Given the description of an element on the screen output the (x, y) to click on. 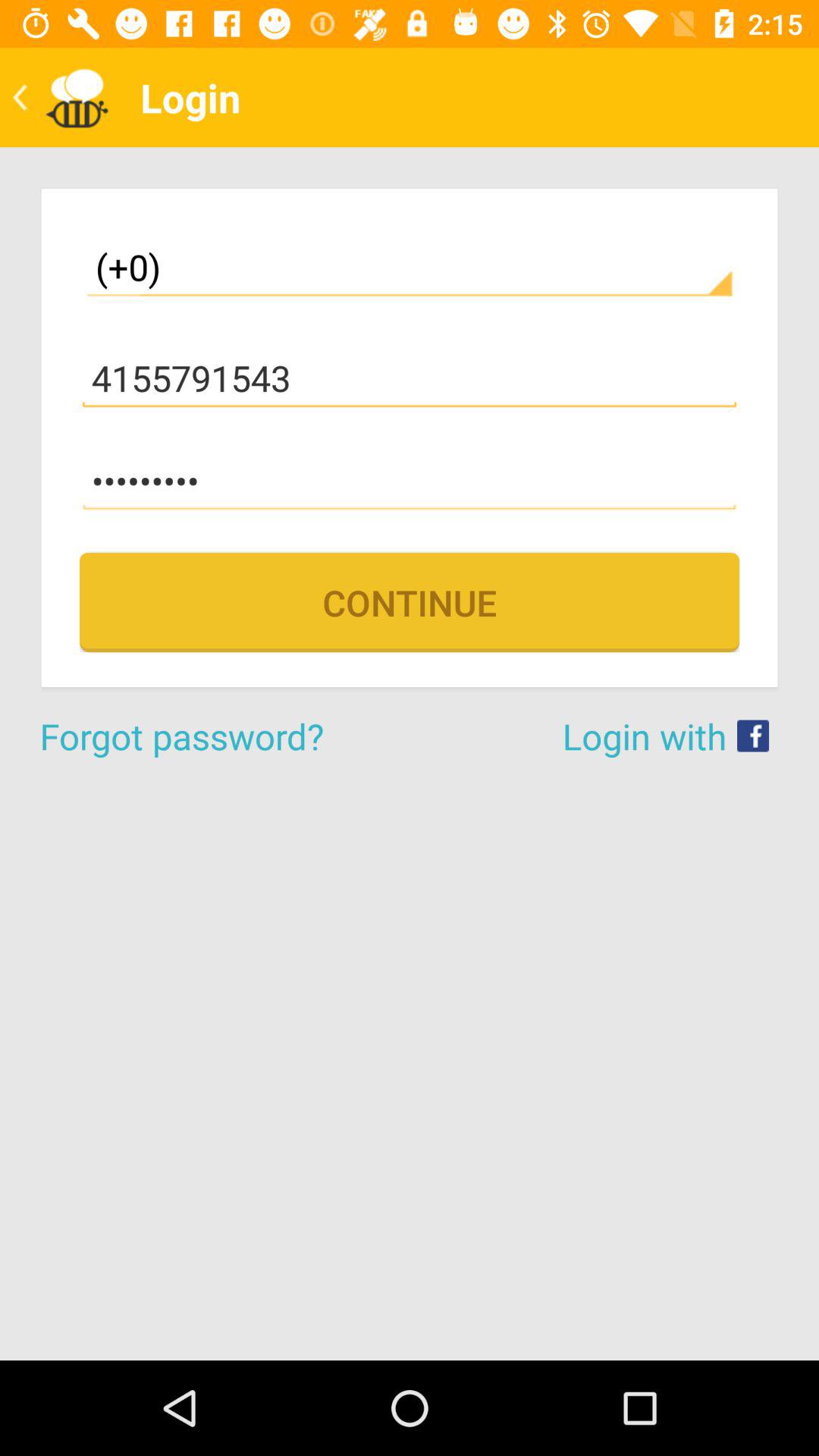
flip to the 4155791543 icon (409, 378)
